Given the description of an element on the screen output the (x, y) to click on. 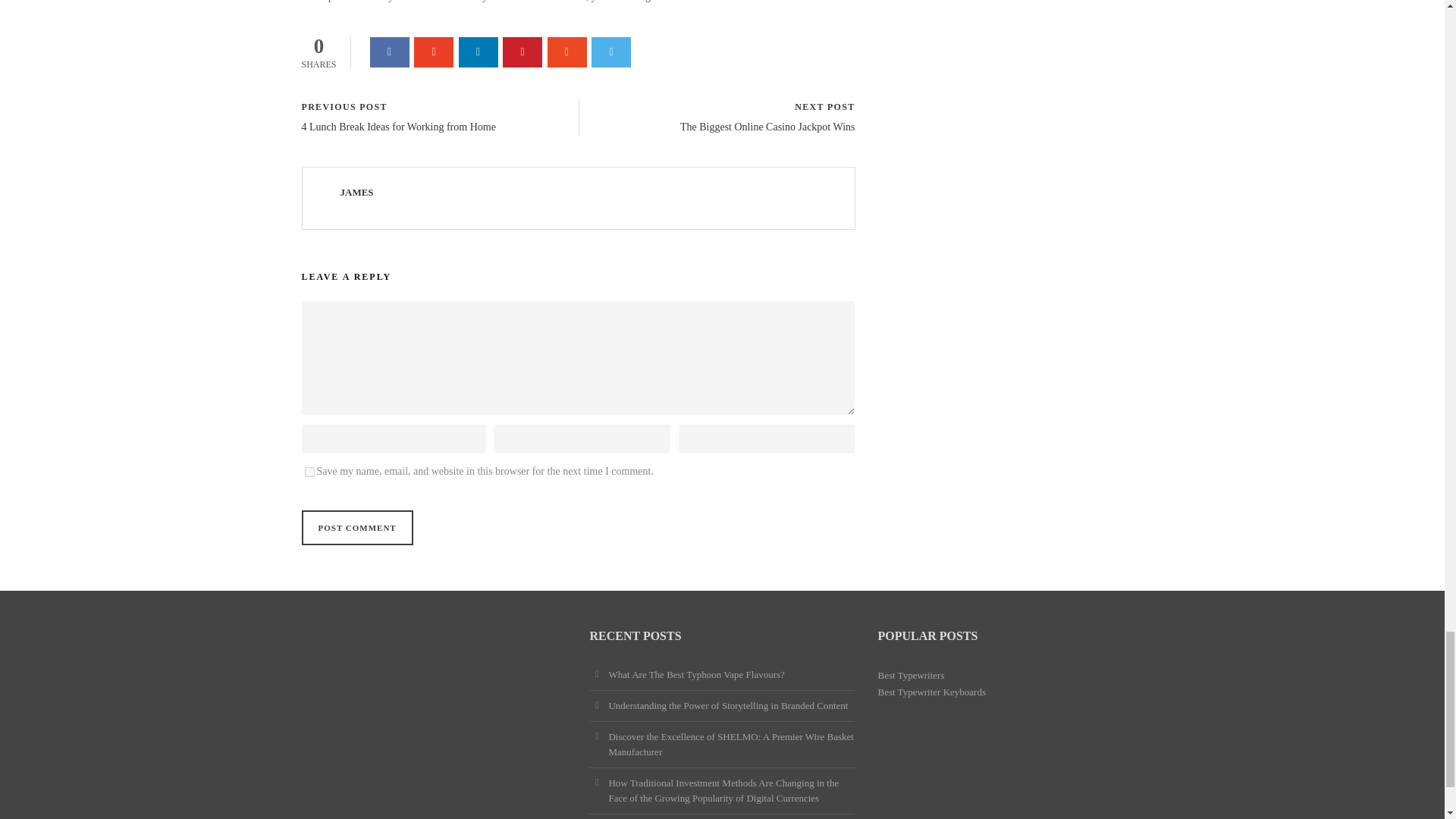
Post Comment (357, 527)
yes (309, 471)
Posts by James (355, 192)
